Given the description of an element on the screen output the (x, y) to click on. 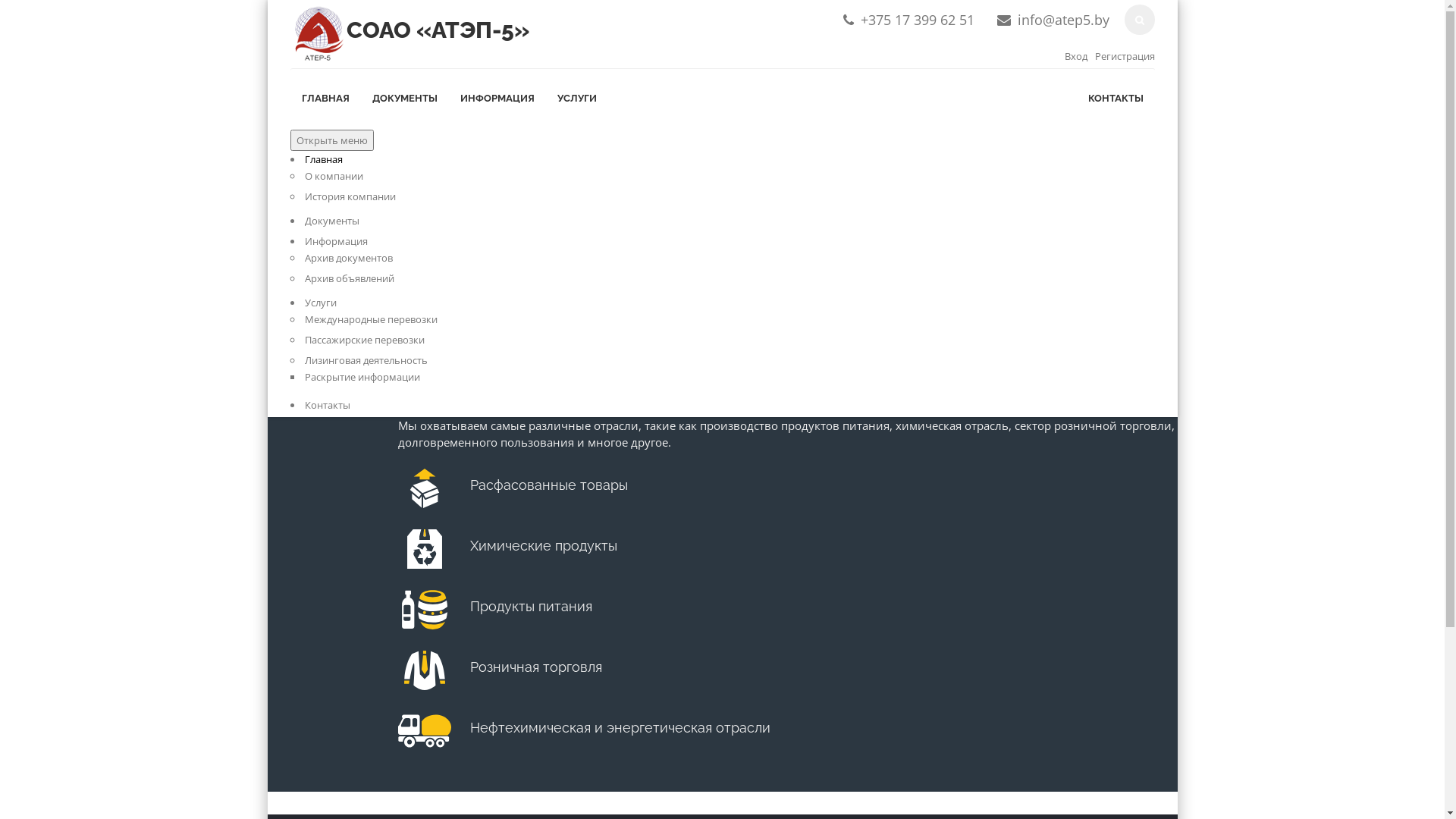
info@atep5.by Element type: text (1063, 19)
+375 17 399 62 51 Element type: text (916, 19)
